Given the description of an element on the screen output the (x, y) to click on. 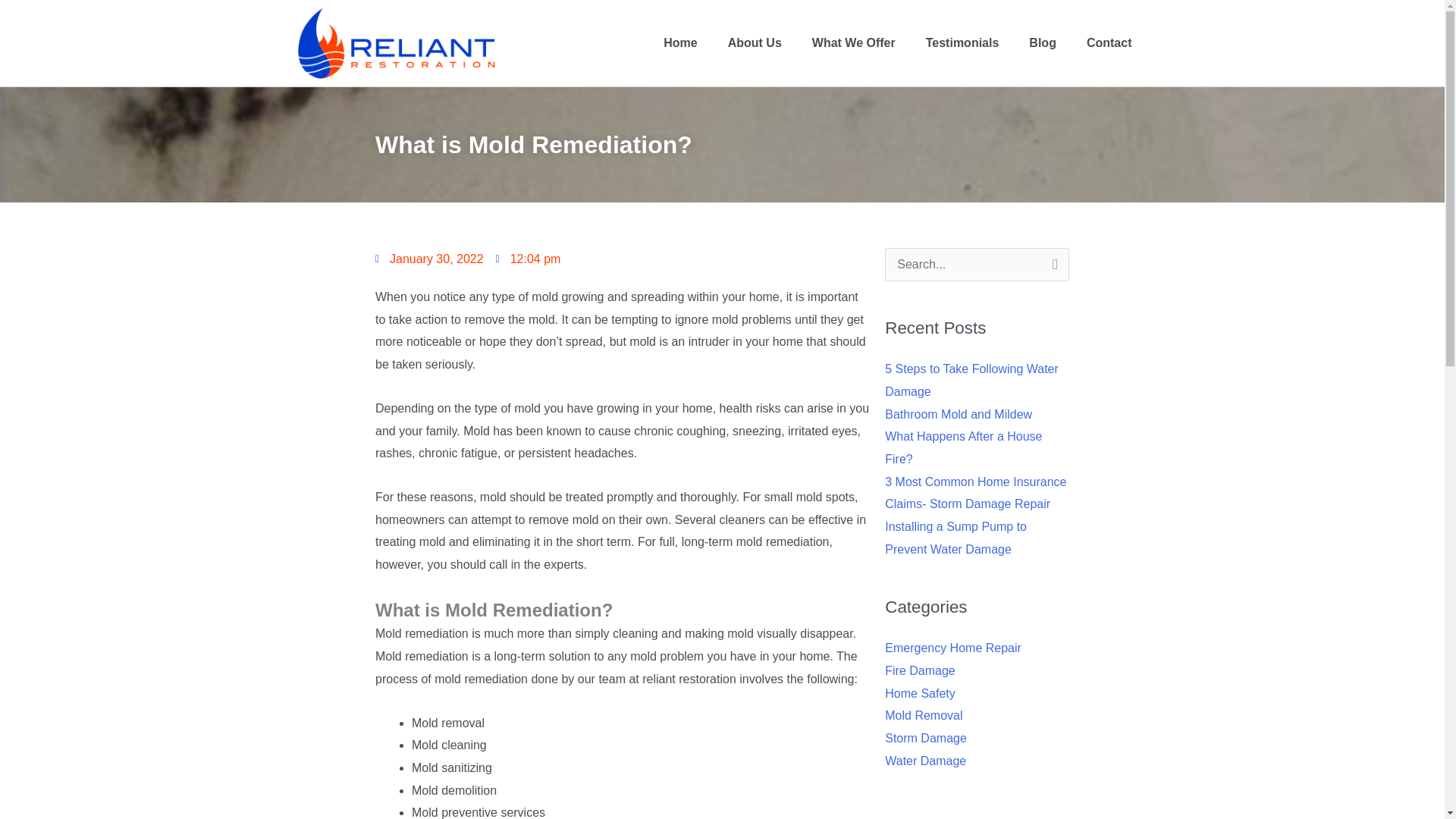
What We Offer (853, 42)
Storm Damage (925, 738)
Bathroom Mold and Mildew (958, 413)
5 Steps to Take Following Water Damage (971, 380)
Mold Removal (923, 715)
Contact (1109, 42)
January 30, 2022 (429, 259)
About Us (754, 42)
Installing a Sump Pump to Prevent Water Damage (955, 538)
Home (679, 42)
